Given the description of an element on the screen output the (x, y) to click on. 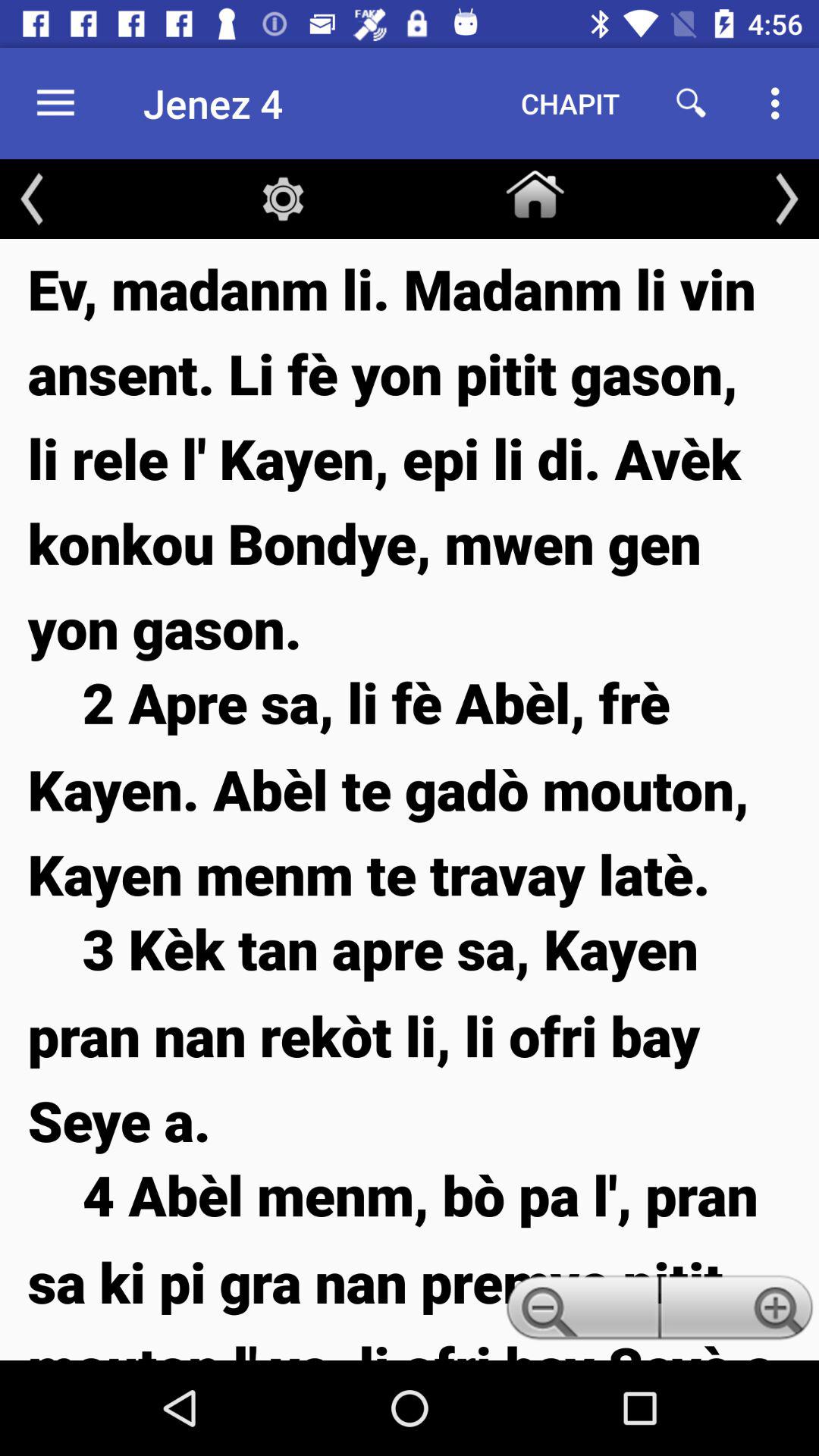
tap chapit (570, 103)
